Given the description of an element on the screen output the (x, y) to click on. 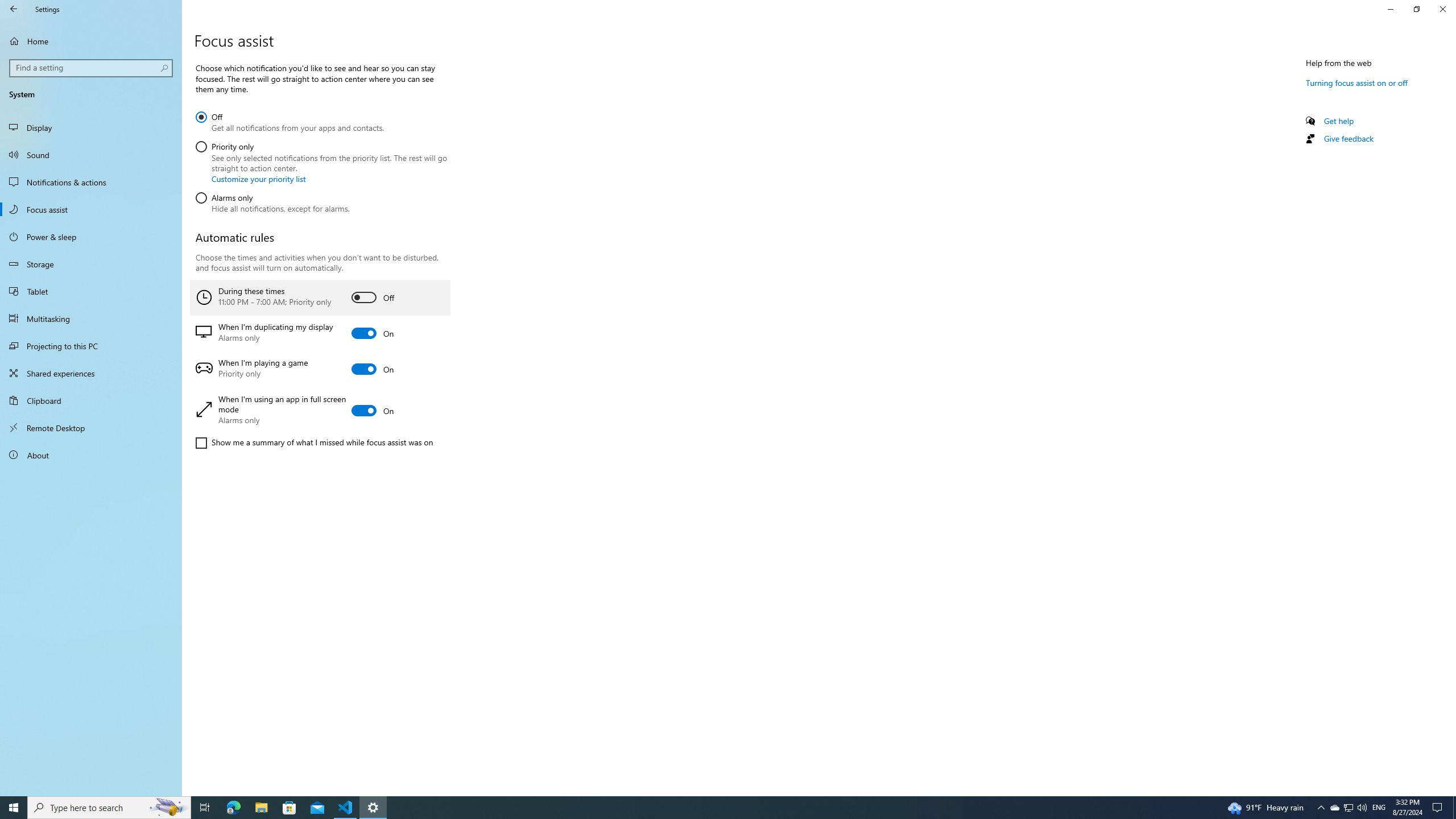
User Promoted Notification Area (1347, 807)
Show desktop (1347, 807)
Microsoft Store (1454, 807)
Notifications & actions (289, 807)
Turning focus assist on or off (91, 181)
Customize your priority list (1356, 82)
Remote Desktop (258, 178)
Priority only (91, 427)
Clipboard (320, 160)
File Explorer (91, 400)
Give feedback (261, 807)
Focus assist (1348, 138)
